Given the description of an element on the screen output the (x, y) to click on. 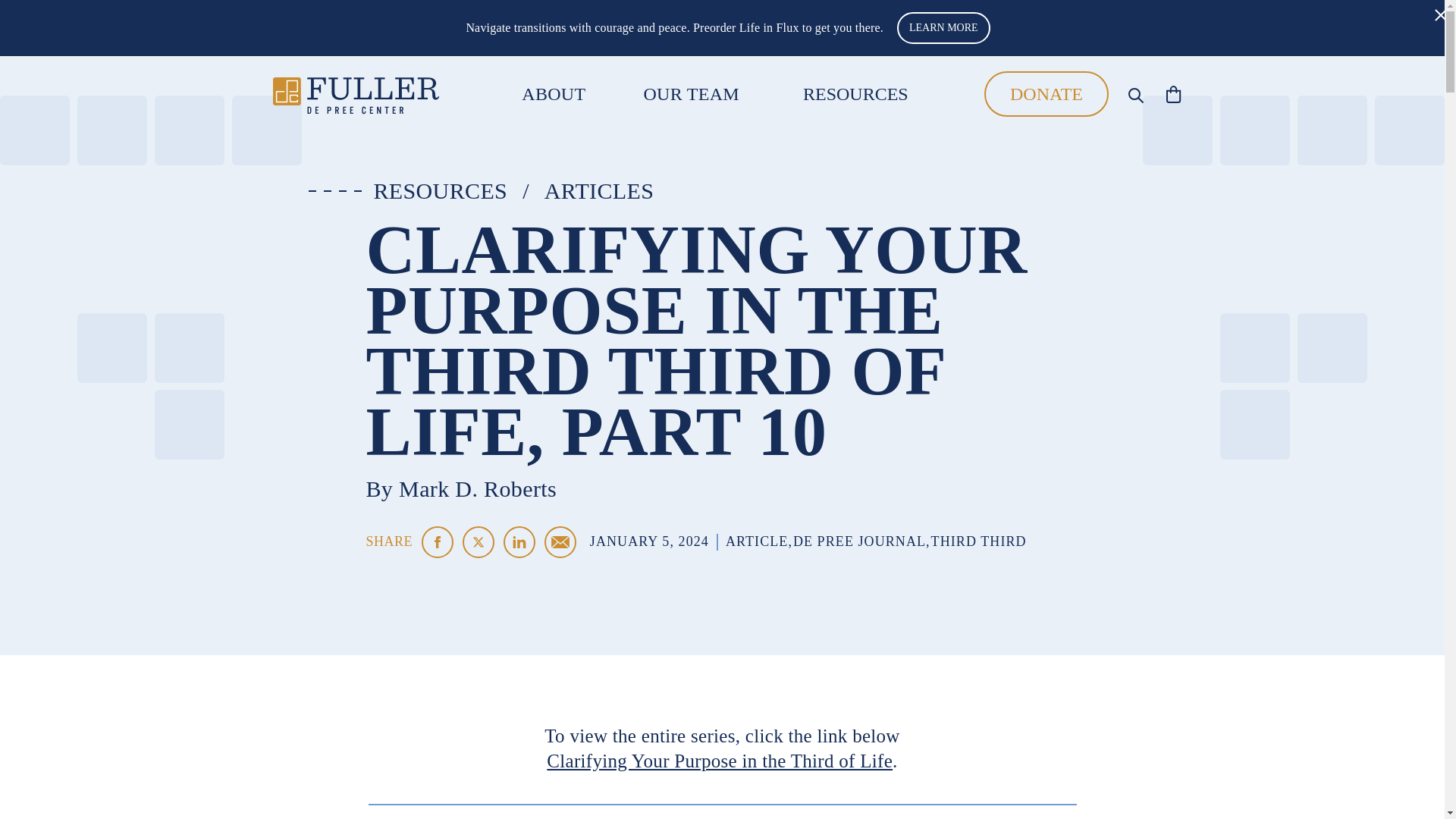
Clarifying Your Purpose in the Third of Life (719, 761)
THIRD THIRD (978, 541)
ABOUT (552, 94)
De Pree Center (356, 93)
DE PREE JOURNAL (859, 541)
ARTICLE (756, 541)
OUR TEAM (691, 94)
DONATE (1046, 94)
LEARN MORE (943, 28)
ARTICLES (598, 190)
